Given the description of an element on the screen output the (x, y) to click on. 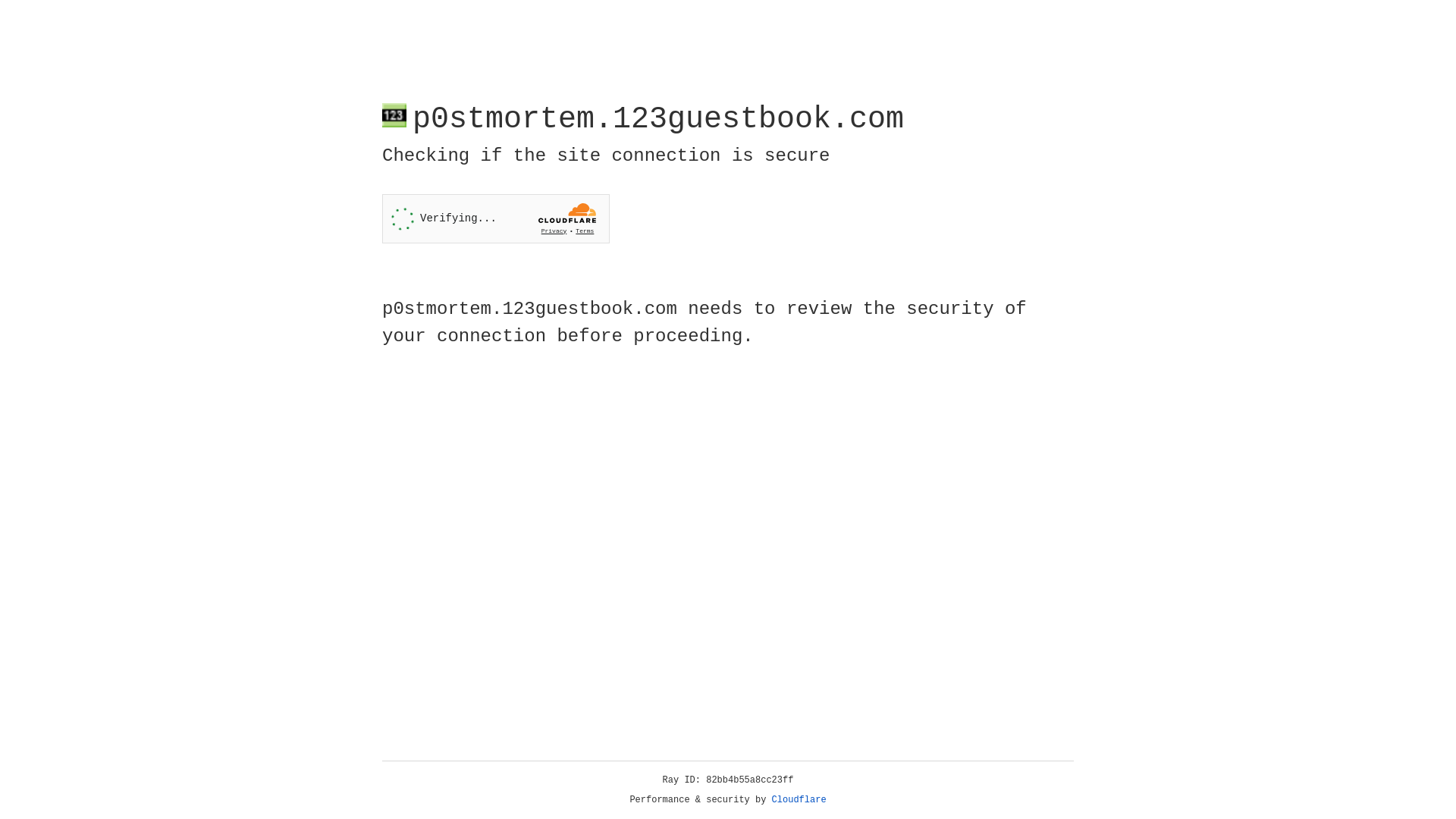
Widget containing a Cloudflare security challenge Element type: hover (495, 218)
Cloudflare Element type: text (798, 799)
